Given the description of an element on the screen output the (x, y) to click on. 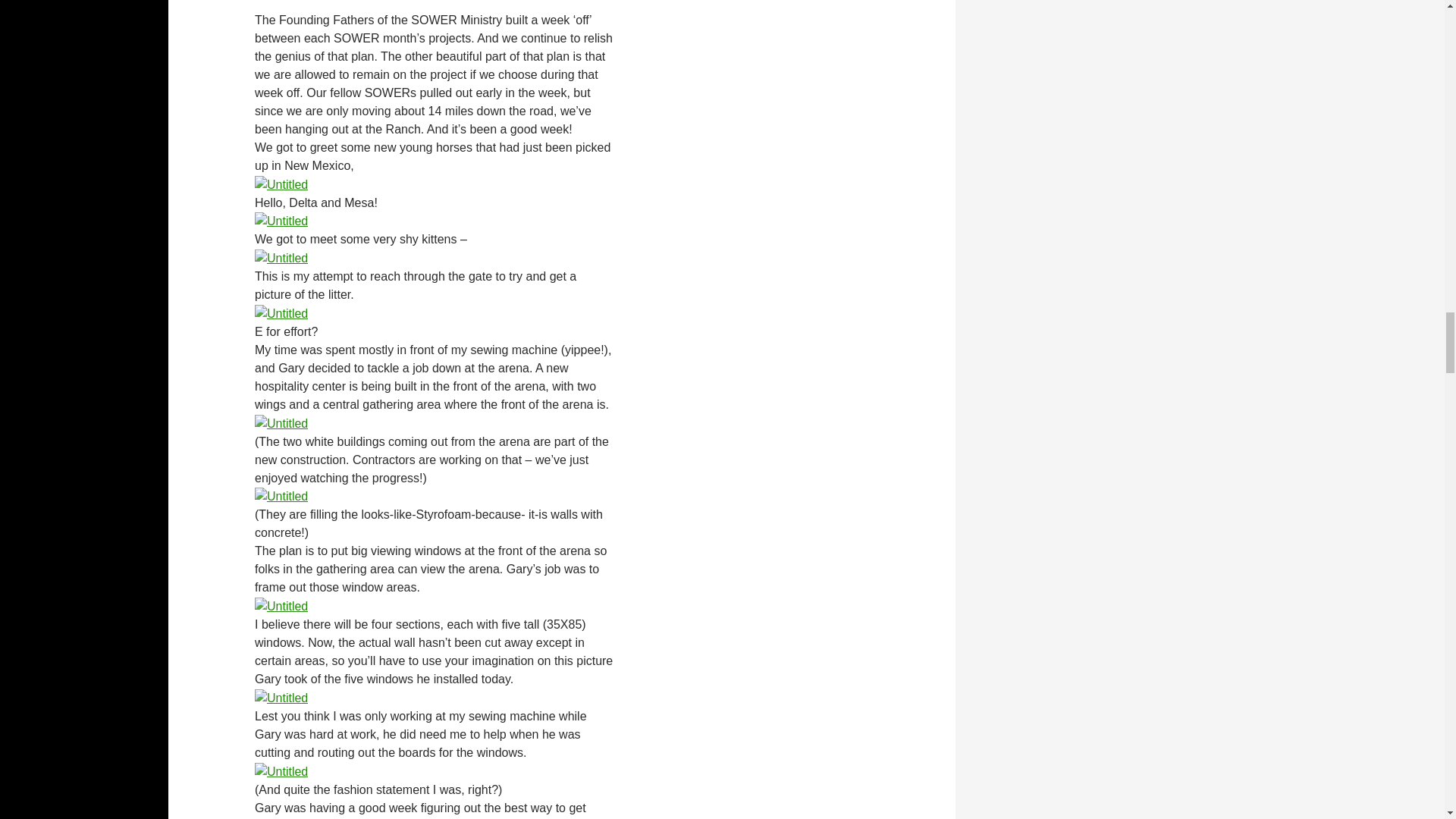
Untitled (280, 183)
Untitled (280, 312)
Untitled (280, 256)
Untitled (280, 422)
Untitled (280, 220)
